Given the description of an element on the screen output the (x, y) to click on. 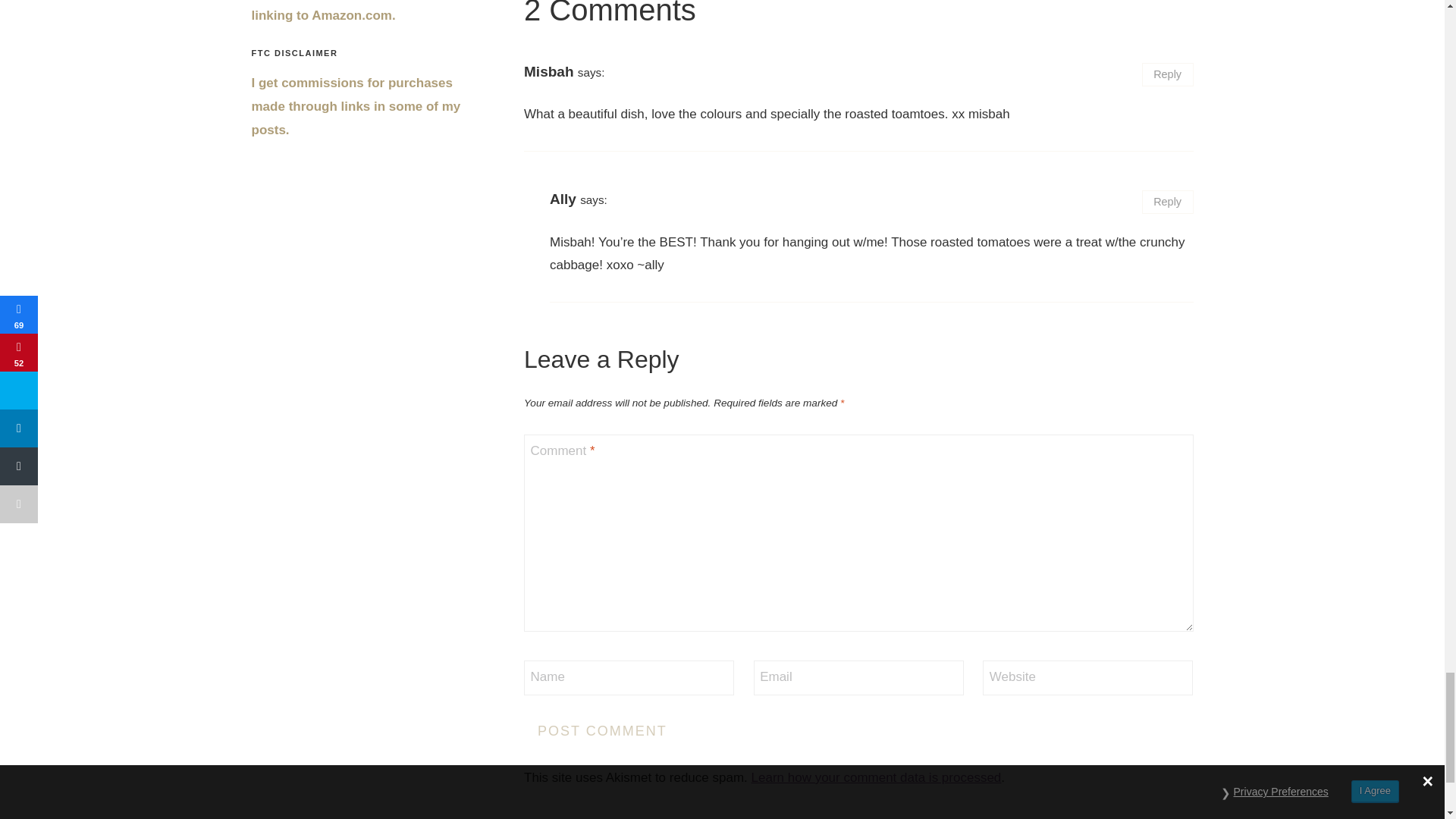
Post Comment (602, 730)
